Given the description of an element on the screen output the (x, y) to click on. 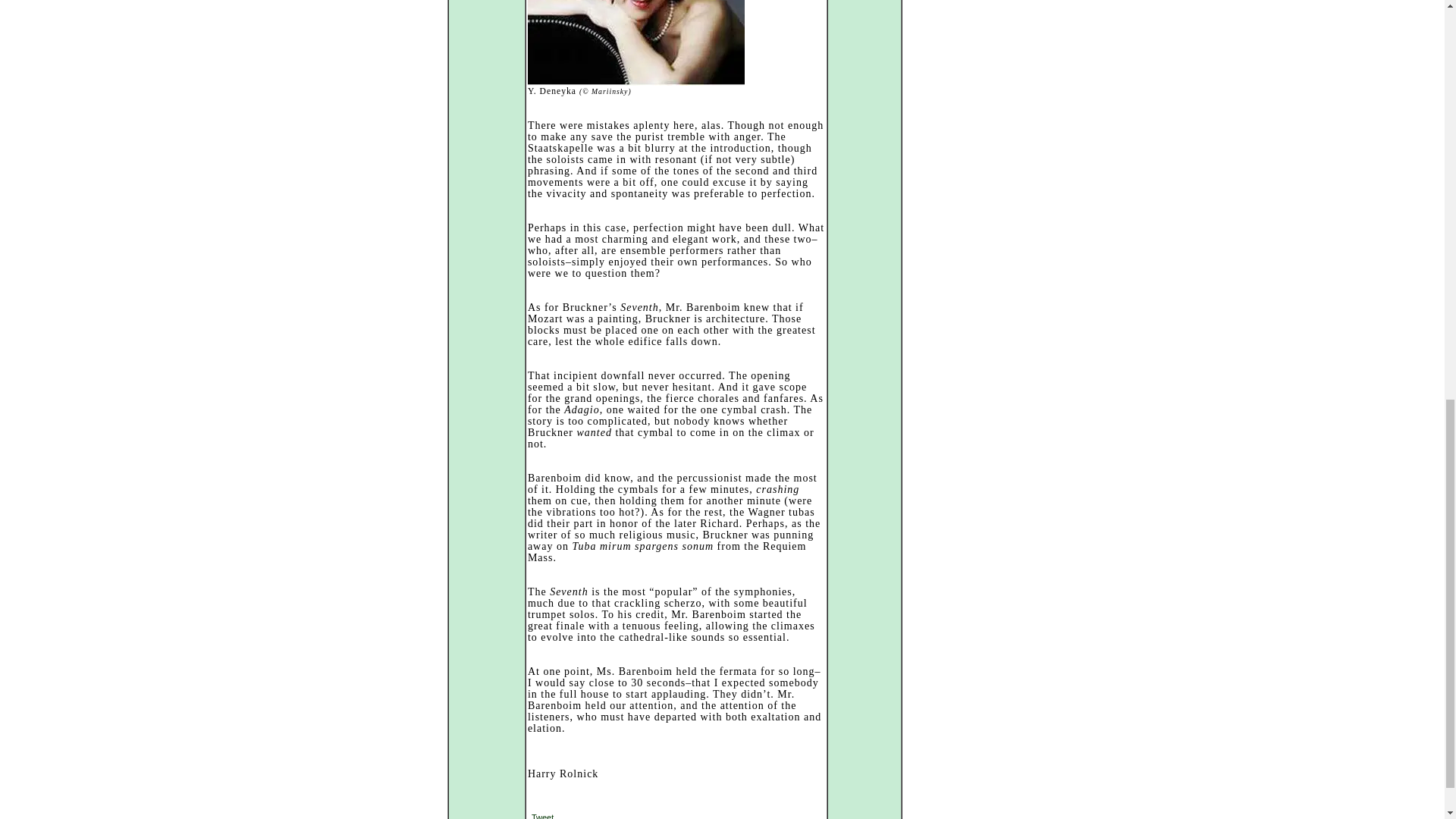
Tweet (542, 816)
